Given the description of an element on the screen output the (x, y) to click on. 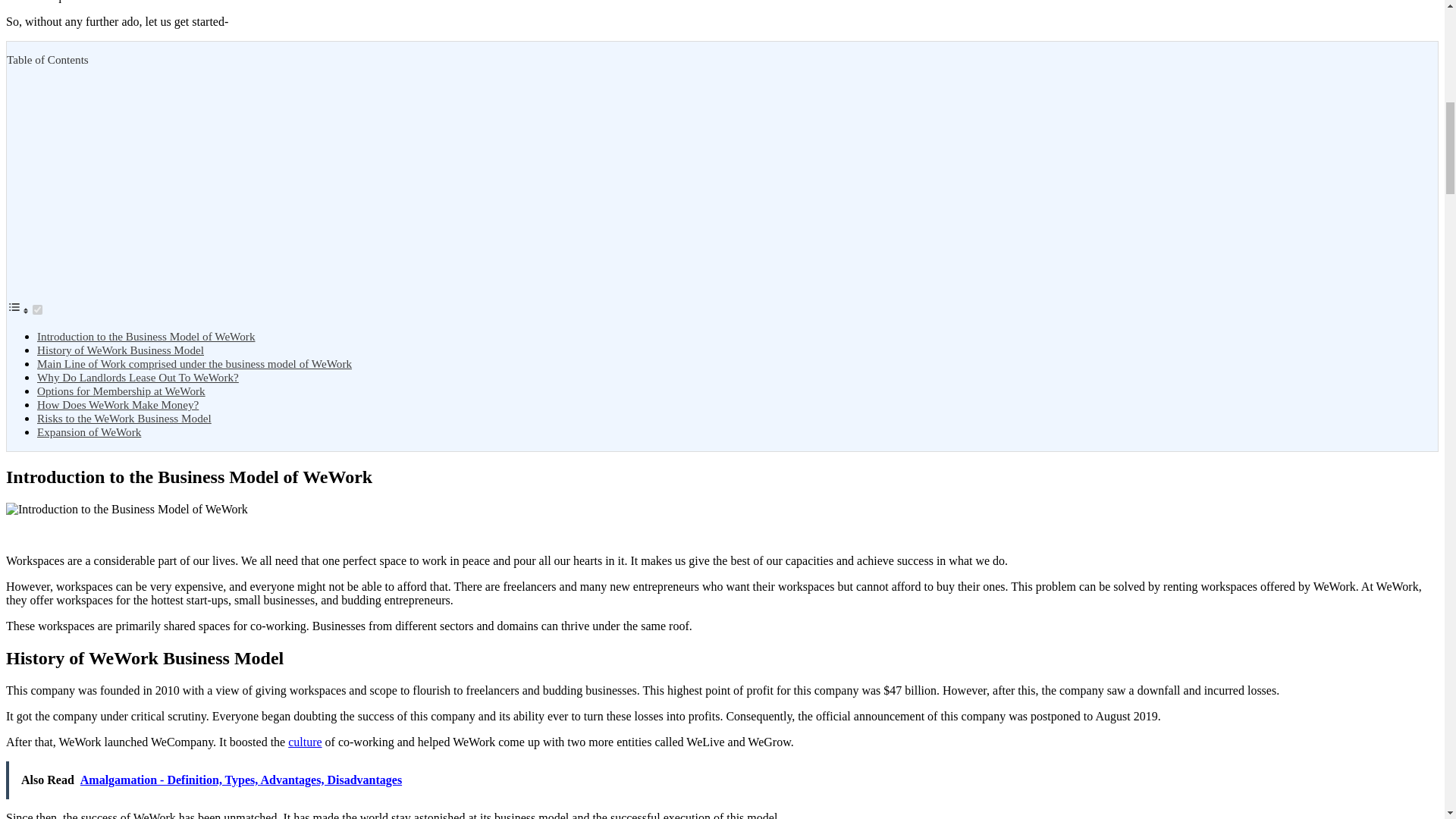
Introduction to the Business Model of WeWork (146, 336)
Why Do Landlords Lease Out To WeWork? (137, 377)
History of WeWork Business Model (120, 349)
Risks to the WeWork Business Model (124, 418)
Options for Membership at WeWork (121, 390)
Expansion of WeWork (89, 431)
on (37, 309)
How Does WeWork Make Money? (117, 404)
